Given the description of an element on the screen output the (x, y) to click on. 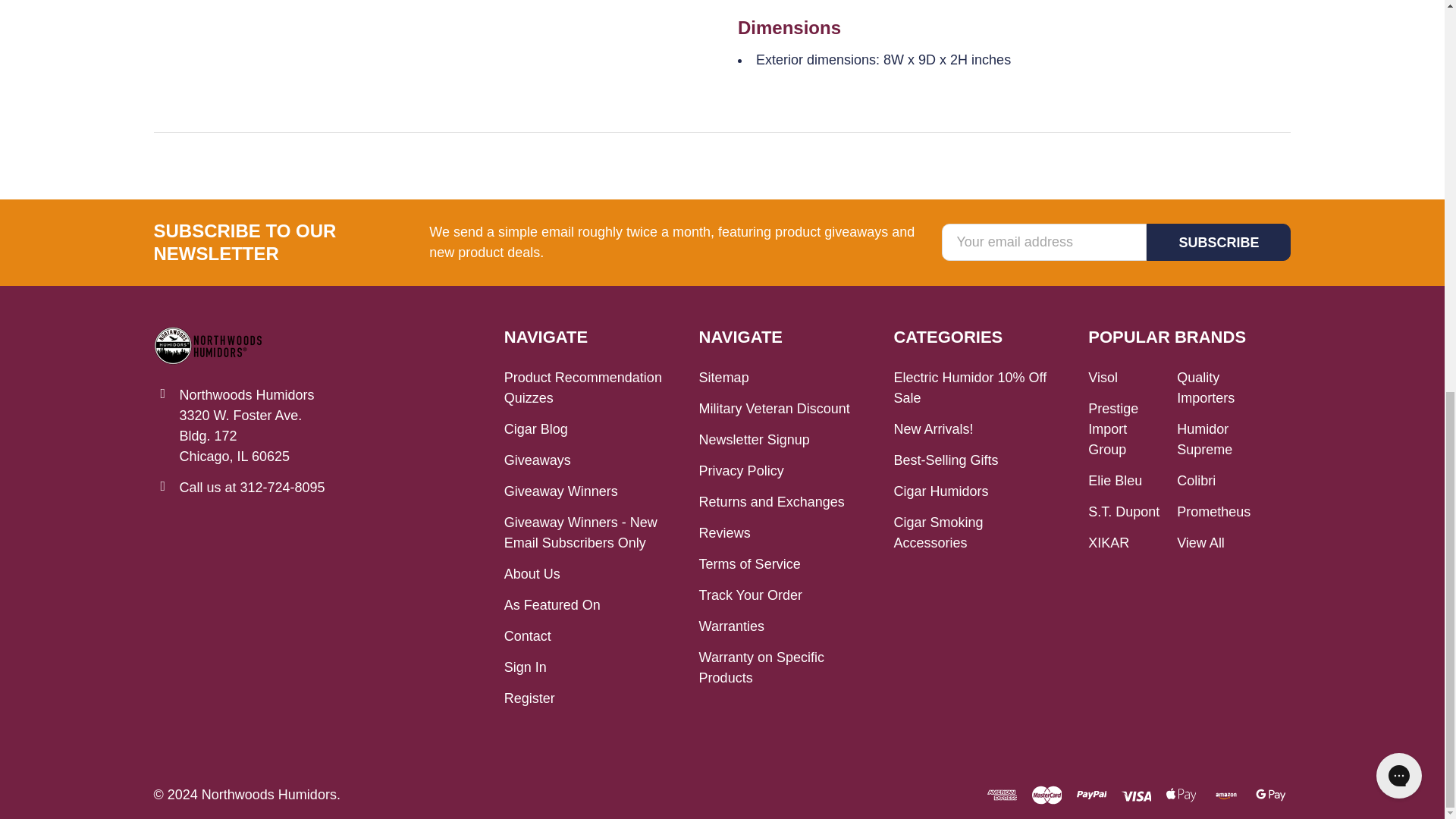
Gorgias live chat messenger (1398, 27)
Northwoods Humidors (207, 345)
Subscribe (1218, 242)
